Given the description of an element on the screen output the (x, y) to click on. 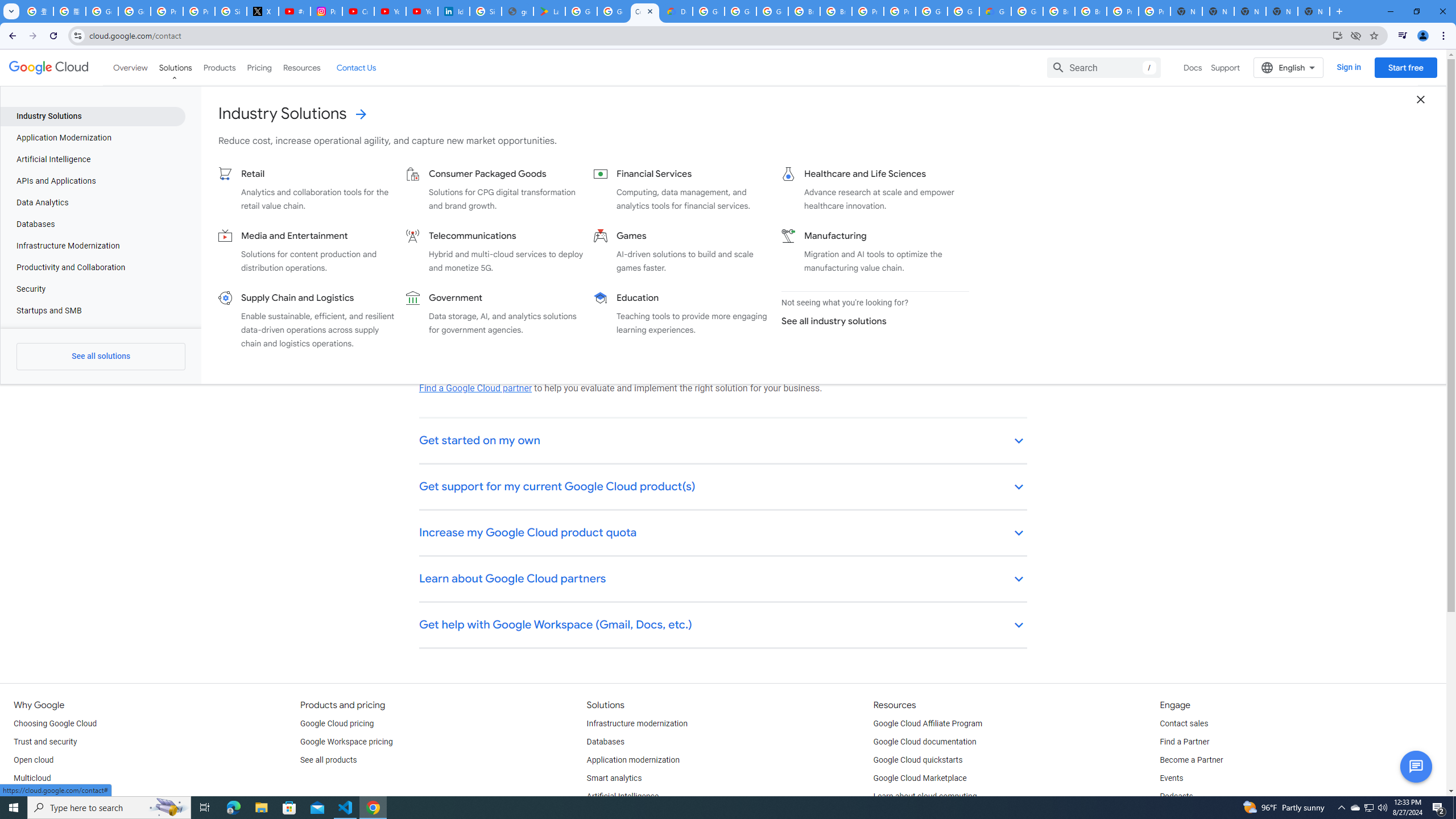
Contact sales (1183, 723)
Last Shelter: Survival - Apps on Google Play (549, 11)
Support (1225, 67)
#nbabasketballhighlights - YouTube (294, 11)
X (262, 11)
Google Cloud Platform (931, 11)
Close dropdown menu (1420, 99)
